Given the description of an element on the screen output the (x, y) to click on. 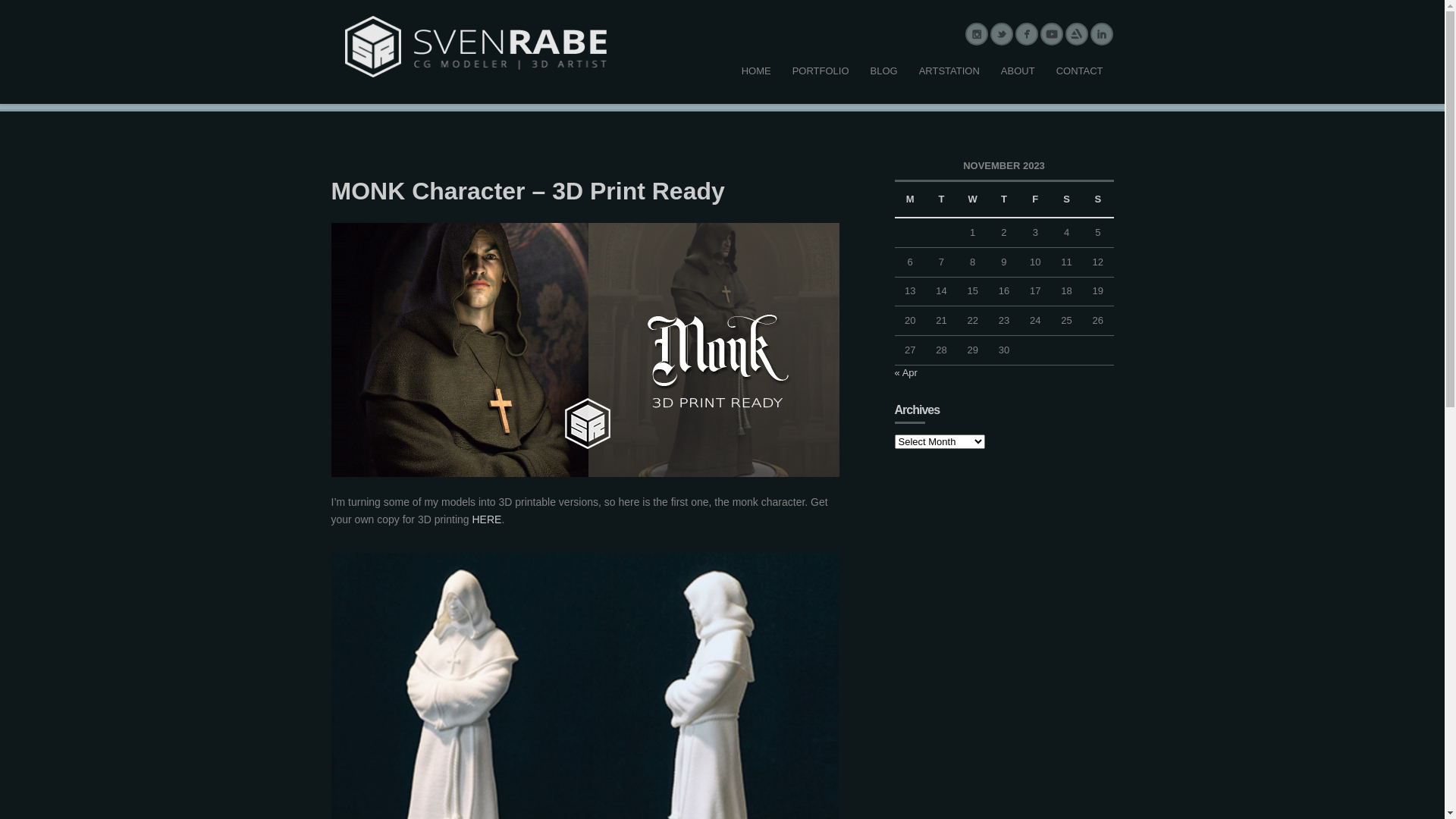
ARTSTATION Element type: text (949, 71)
LinkedIn Profile Element type: hover (1100, 33)
Youtube Channel Element type: hover (1050, 33)
Facebook Page Element type: hover (1026, 33)
BLOG Element type: text (883, 71)
Instagram Profile Element type: hover (976, 33)
ABOUT Element type: text (1017, 71)
ArtStation Profile Element type: hover (1076, 33)
CONTACT Element type: text (1079, 71)
PORTFOLIO Element type: text (820, 71)
HOME Element type: text (756, 71)
HERE Element type: text (486, 519)
Twitter Profile Element type: hover (1000, 33)
